Given the description of an element on the screen output the (x, y) to click on. 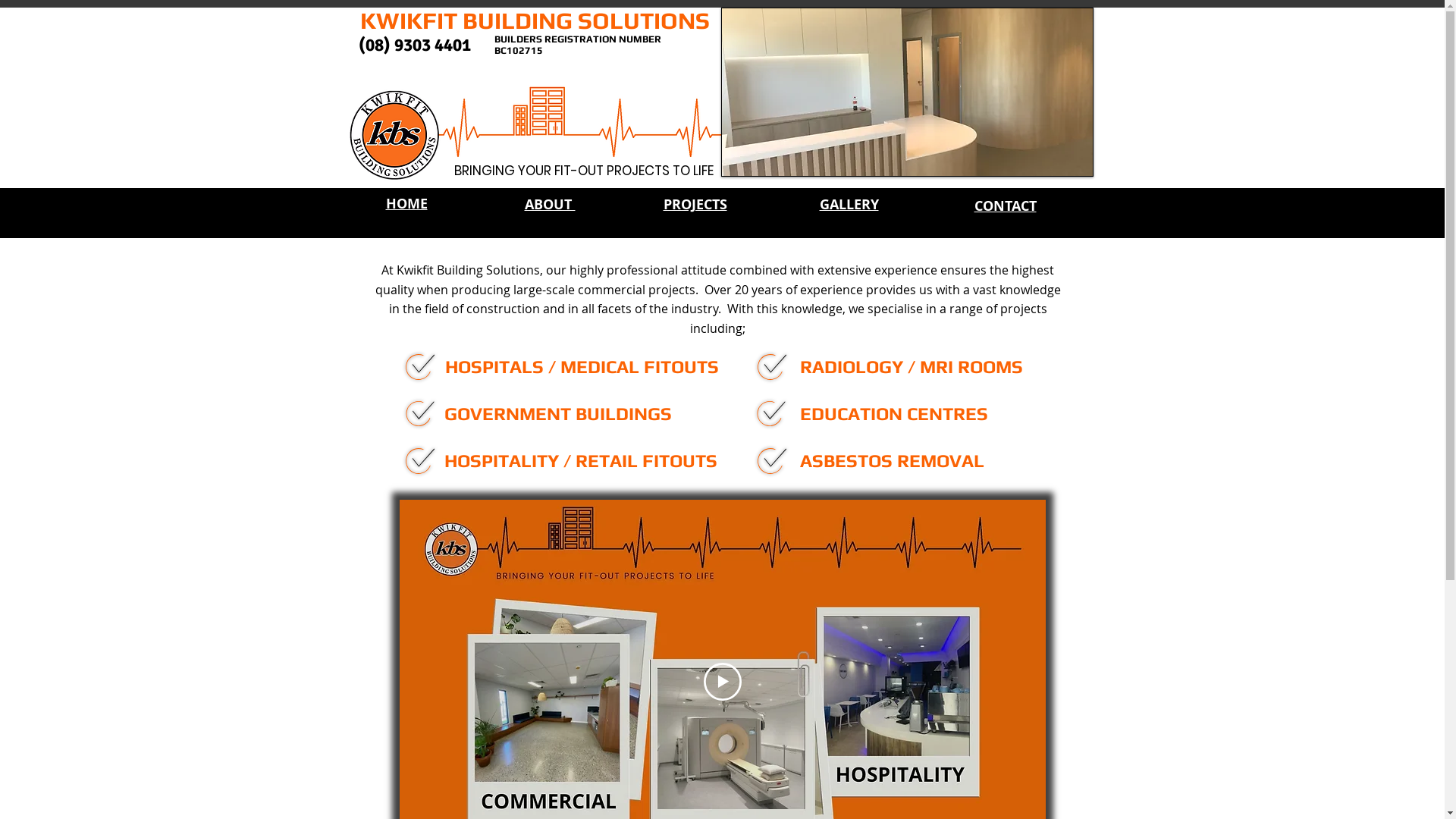
CONTACT Element type: text (1004, 205)
kbs logo Element type: hover (394, 134)
Kwikfit Building Heartbeat Logo Element type: hover (577, 122)
(08) 9303 4401 Element type: text (413, 44)
ABOUT  Element type: text (549, 204)
KWIKFIT BUILDING SOLUTIONS Element type: text (534, 20)
HOME Element type: text (405, 203)
GALLERY Element type: text (848, 204)
PROJECTS Element type: text (694, 204)
